Given the description of an element on the screen output the (x, y) to click on. 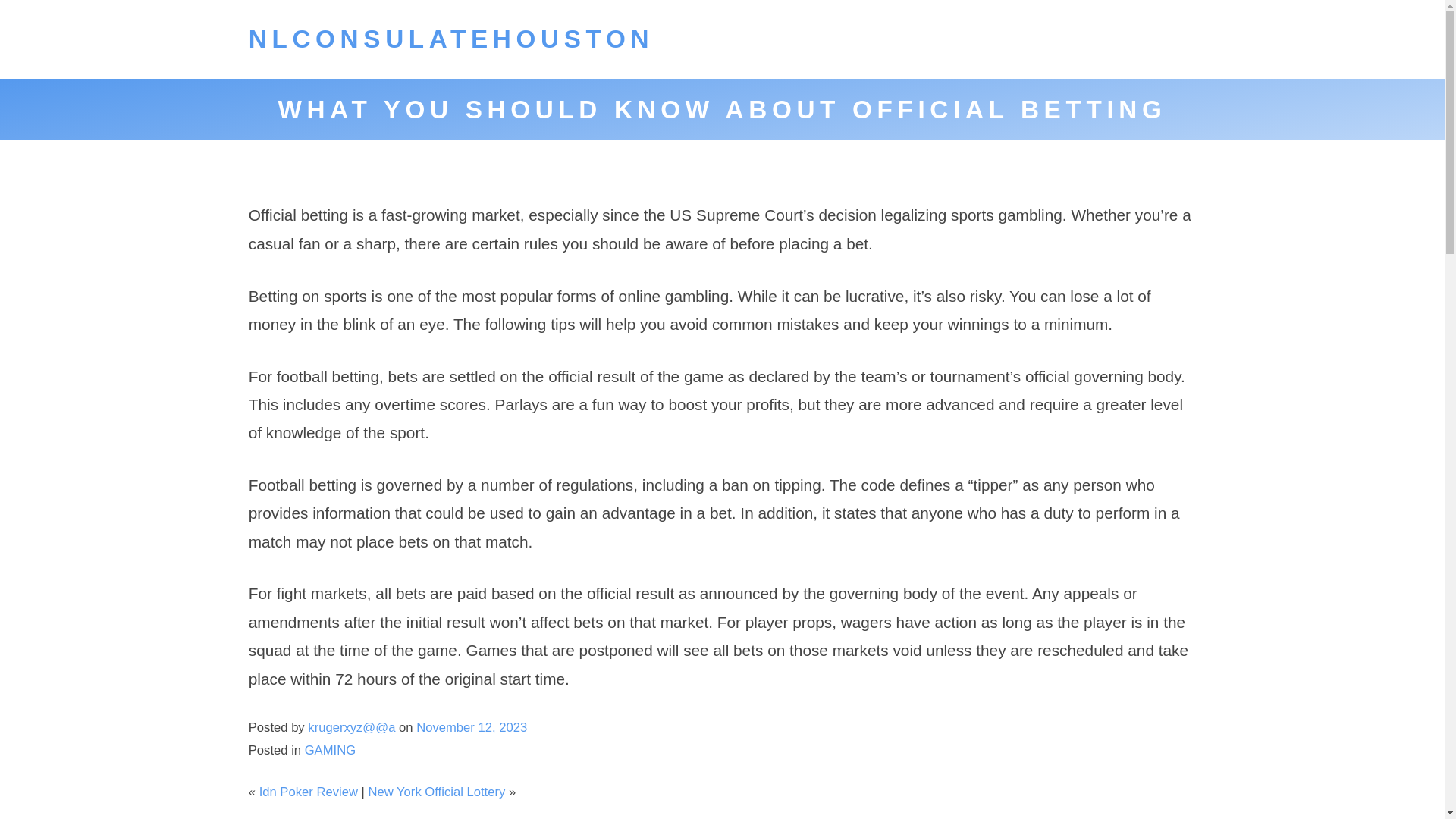
NLCONSULATEHOUSTON (450, 39)
Idn Poker Review (308, 791)
November 12, 2023 (471, 727)
GAMING (329, 749)
New York Official Lottery (436, 791)
